Given the description of an element on the screen output the (x, y) to click on. 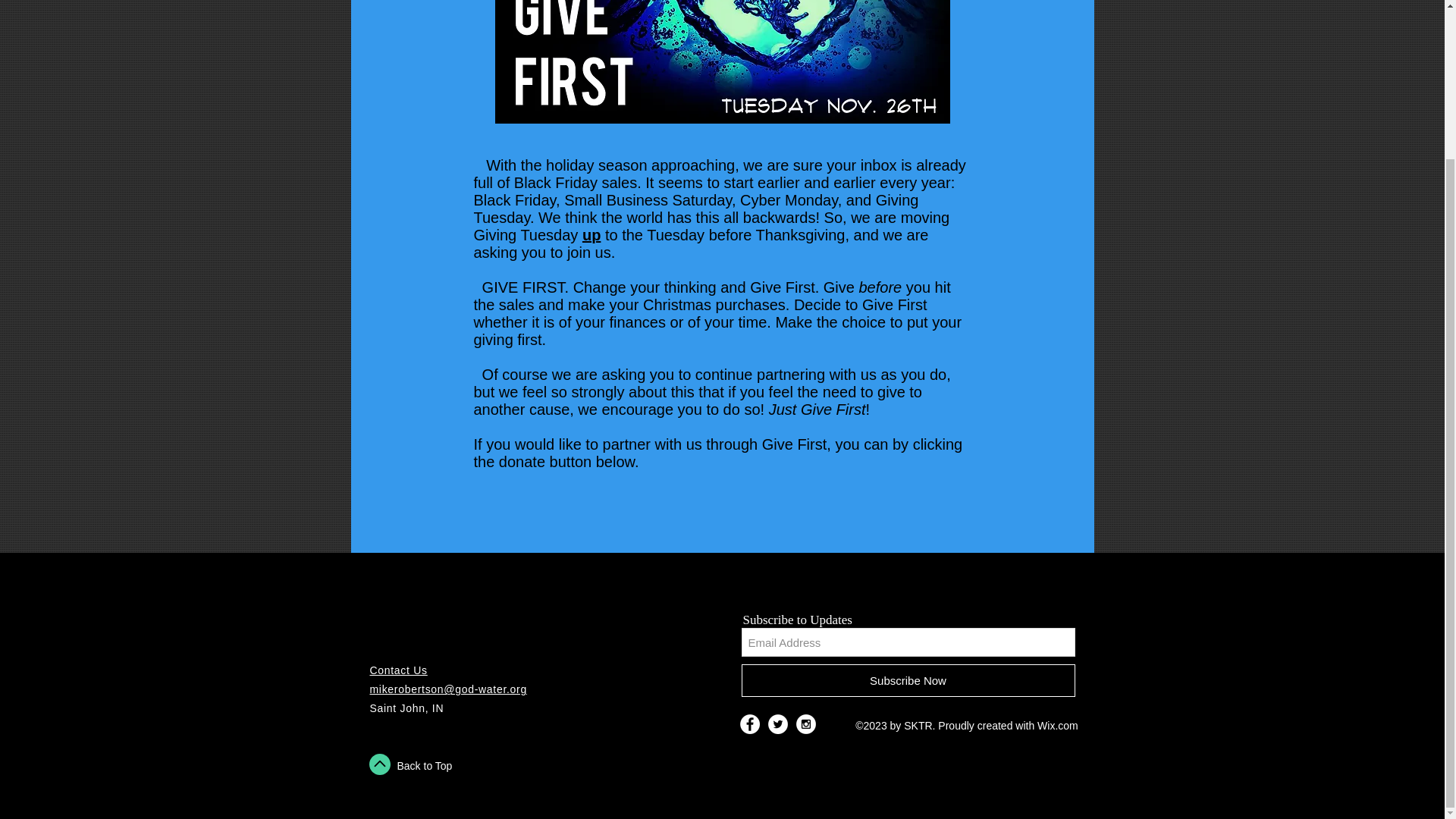
Wix.com (1057, 725)
Subscribe Now (908, 680)
Back to Top (424, 766)
Contact Us (398, 670)
